Given the description of an element on the screen output the (x, y) to click on. 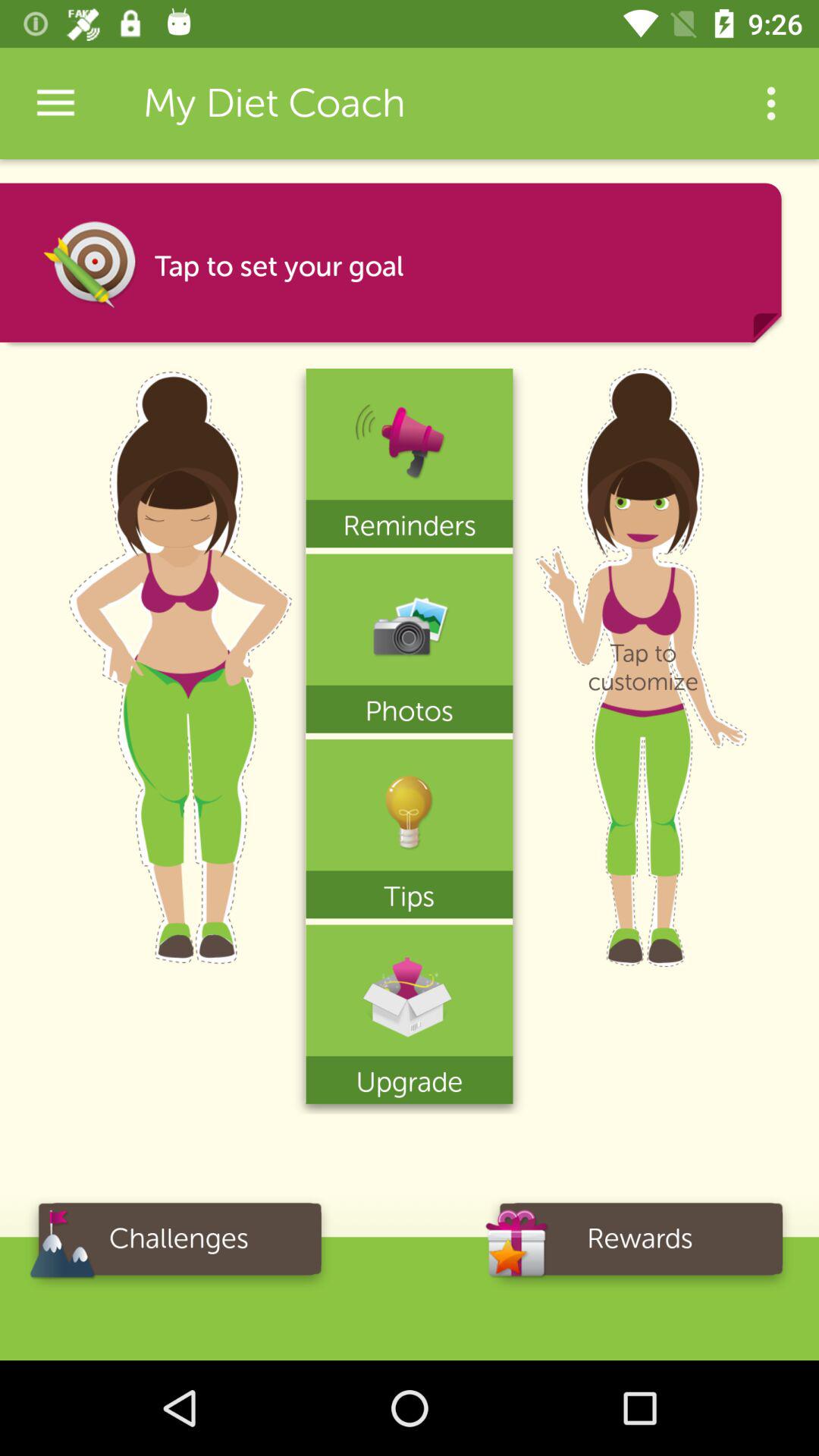
open the icon at the top right corner (771, 103)
